Given the description of an element on the screen output the (x, y) to click on. 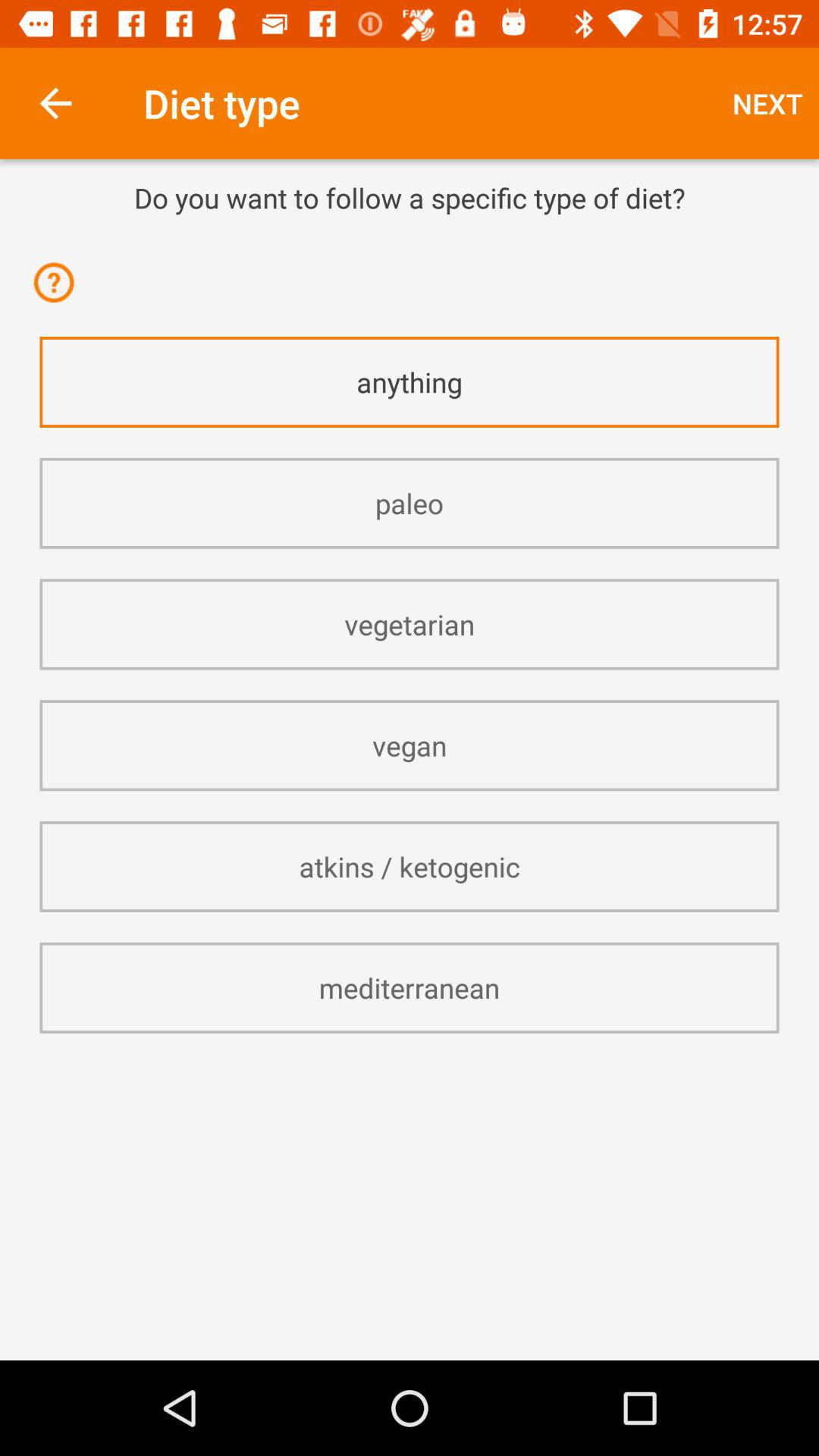
select the item below the atkins / ketogenic item (409, 987)
